Given the description of an element on the screen output the (x, y) to click on. 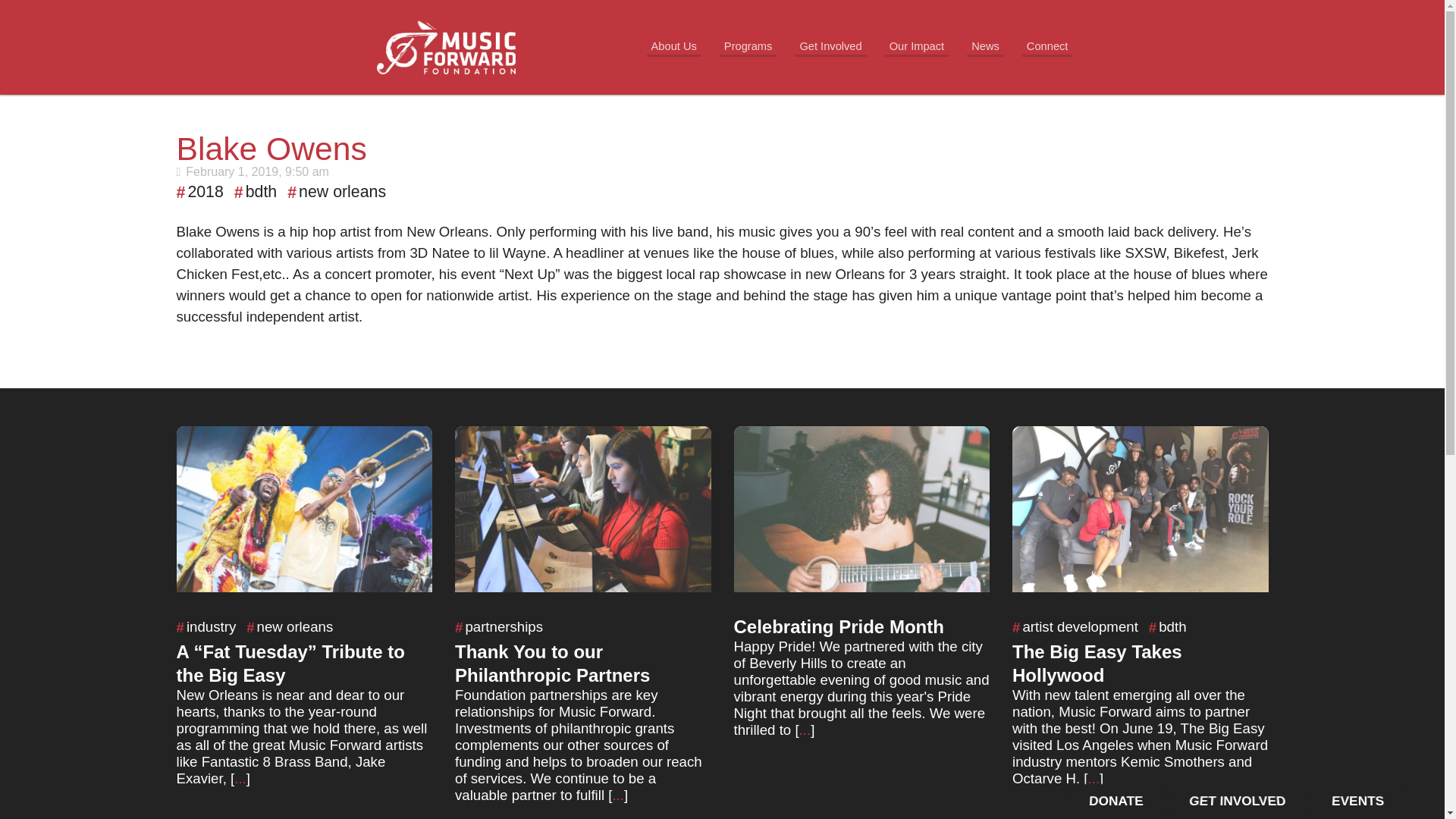
Programs (748, 46)
News (985, 46)
Our Impact (917, 46)
About Us (673, 46)
Connect (1047, 46)
Get Involved (830, 46)
